Given the description of an element on the screen output the (x, y) to click on. 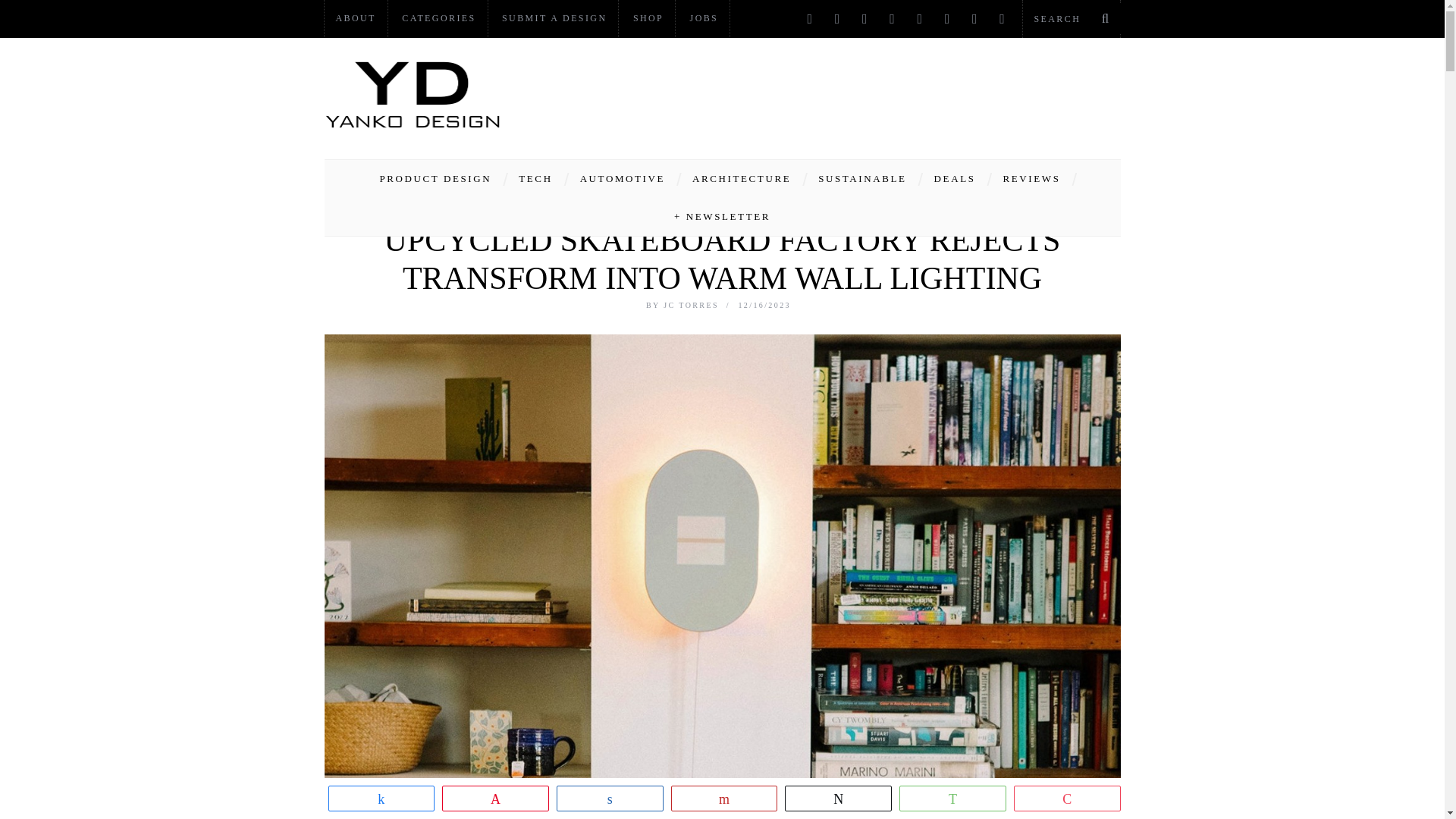
Search (1071, 18)
Advertisement (845, 94)
